Given the description of an element on the screen output the (x, y) to click on. 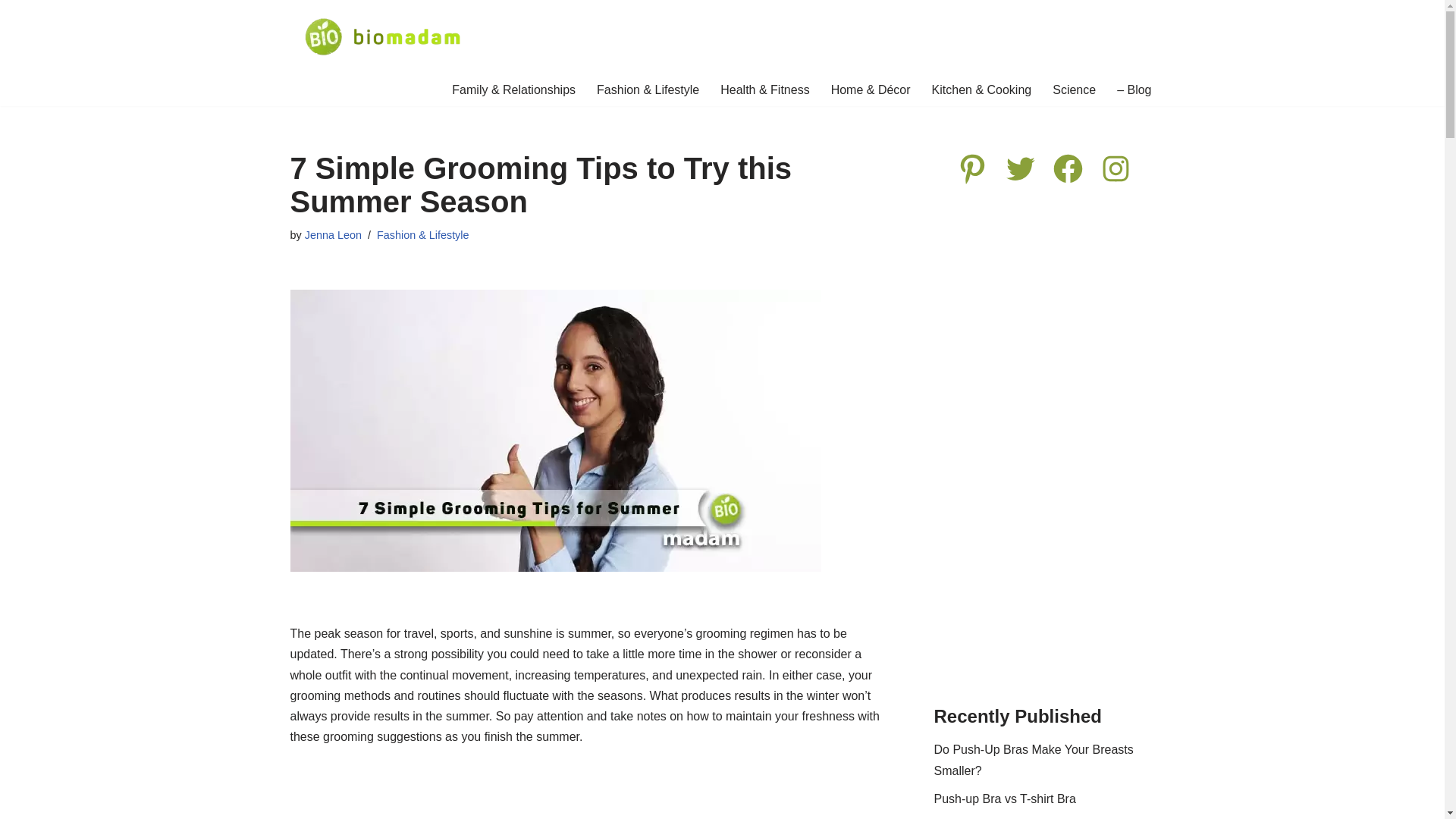
Advertisement (588, 794)
Posts by Jenna Leon (332, 234)
Science (1074, 89)
Skip to content (11, 31)
Jenna Leon (332, 234)
